Given the description of an element on the screen output the (x, y) to click on. 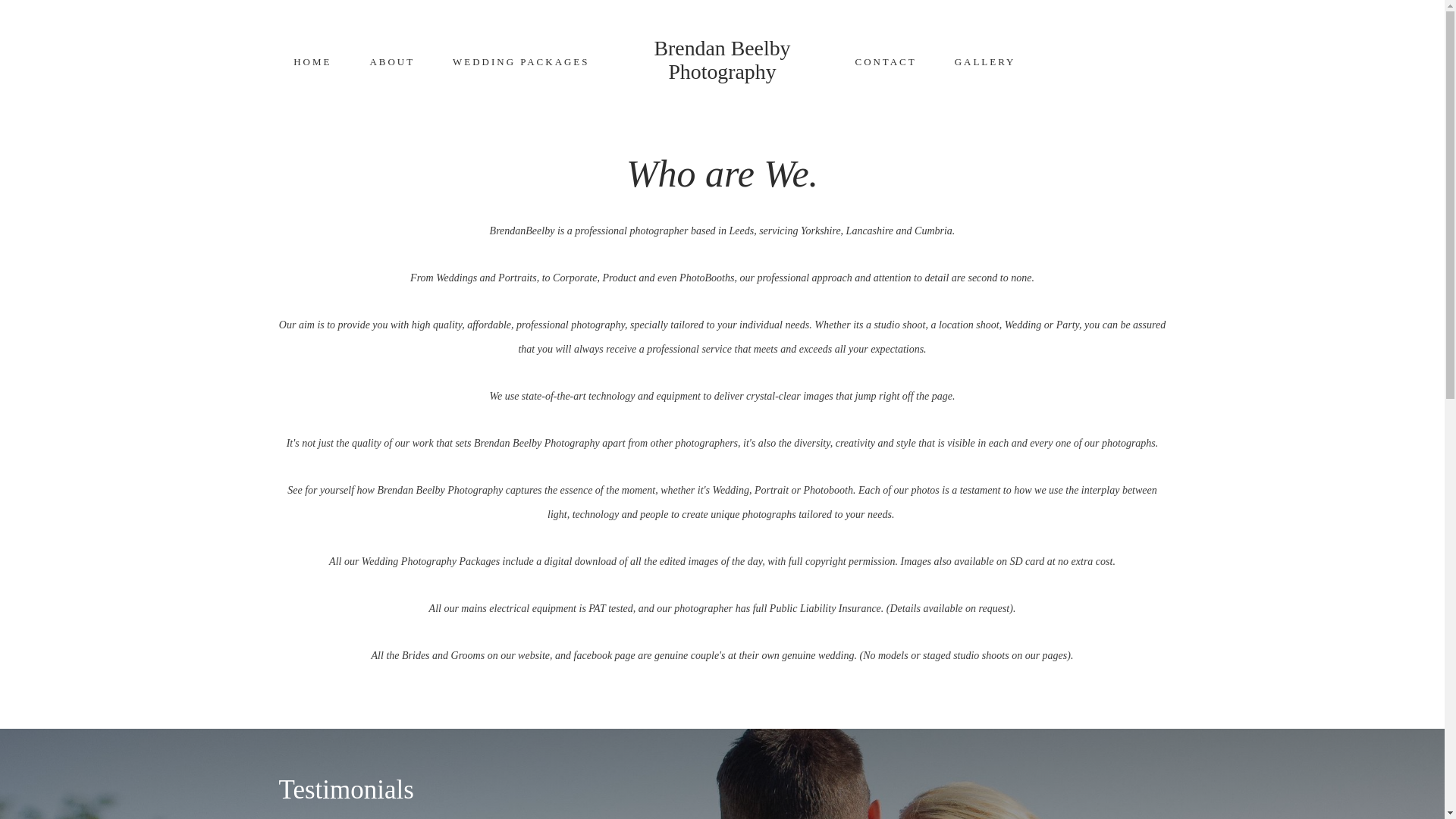
GALLERY (985, 61)
CONTACT (884, 61)
Brendan Beelby Photography (722, 59)
HOME (312, 61)
WEDDING PACKAGES (520, 61)
ABOUT (391, 61)
